Given the description of an element on the screen output the (x, y) to click on. 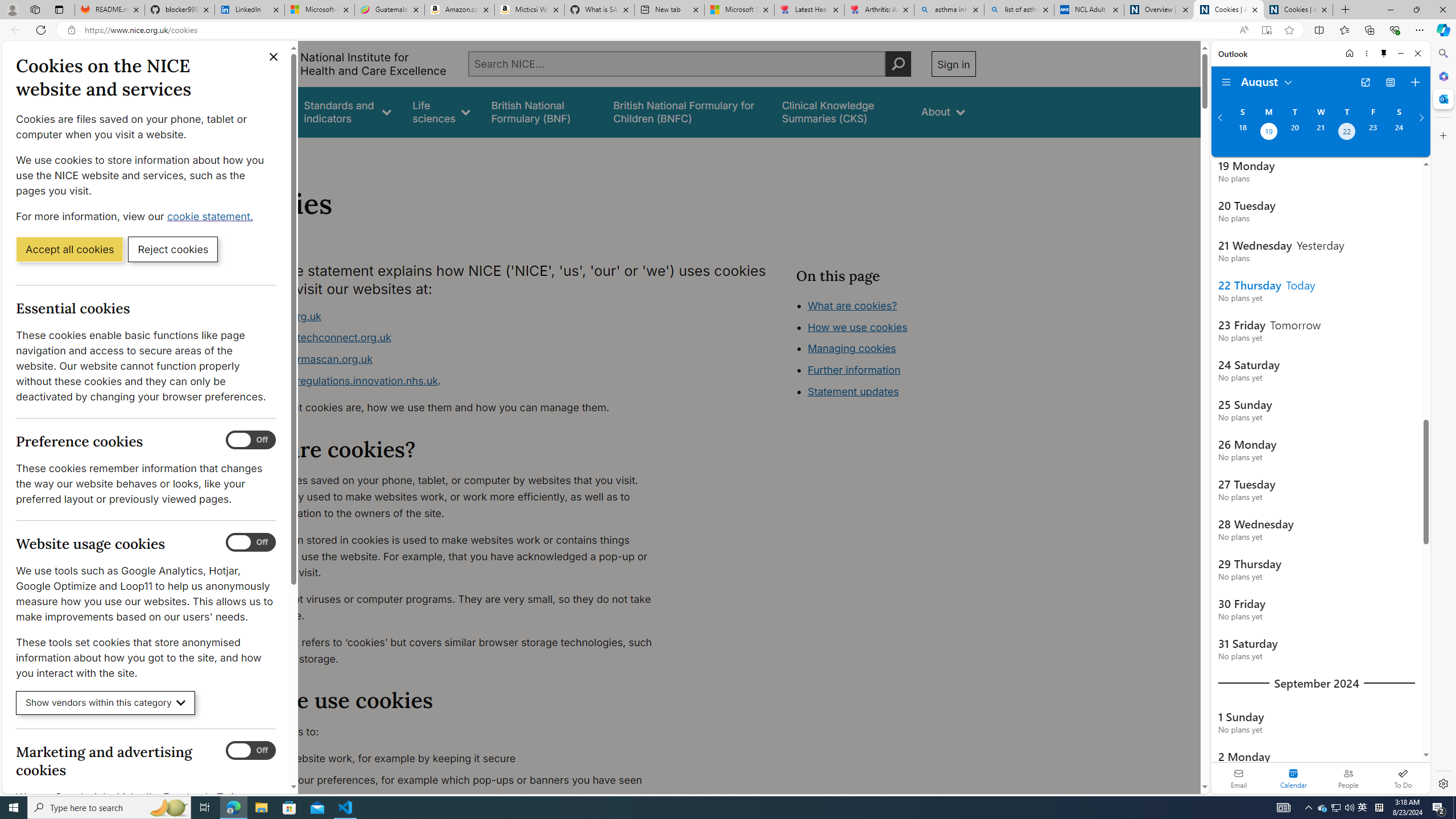
Email (1238, 777)
Microsoft-Report a Concern to Bing (319, 9)
Life sciences (440, 111)
NCL Adult Asthma Inhaler Choice Guideline (1088, 9)
To Do (1402, 777)
Reject cookies (173, 248)
Folder navigation (1225, 82)
Side bar (1443, 418)
What are cookies? (852, 305)
